Given the description of an element on the screen output the (x, y) to click on. 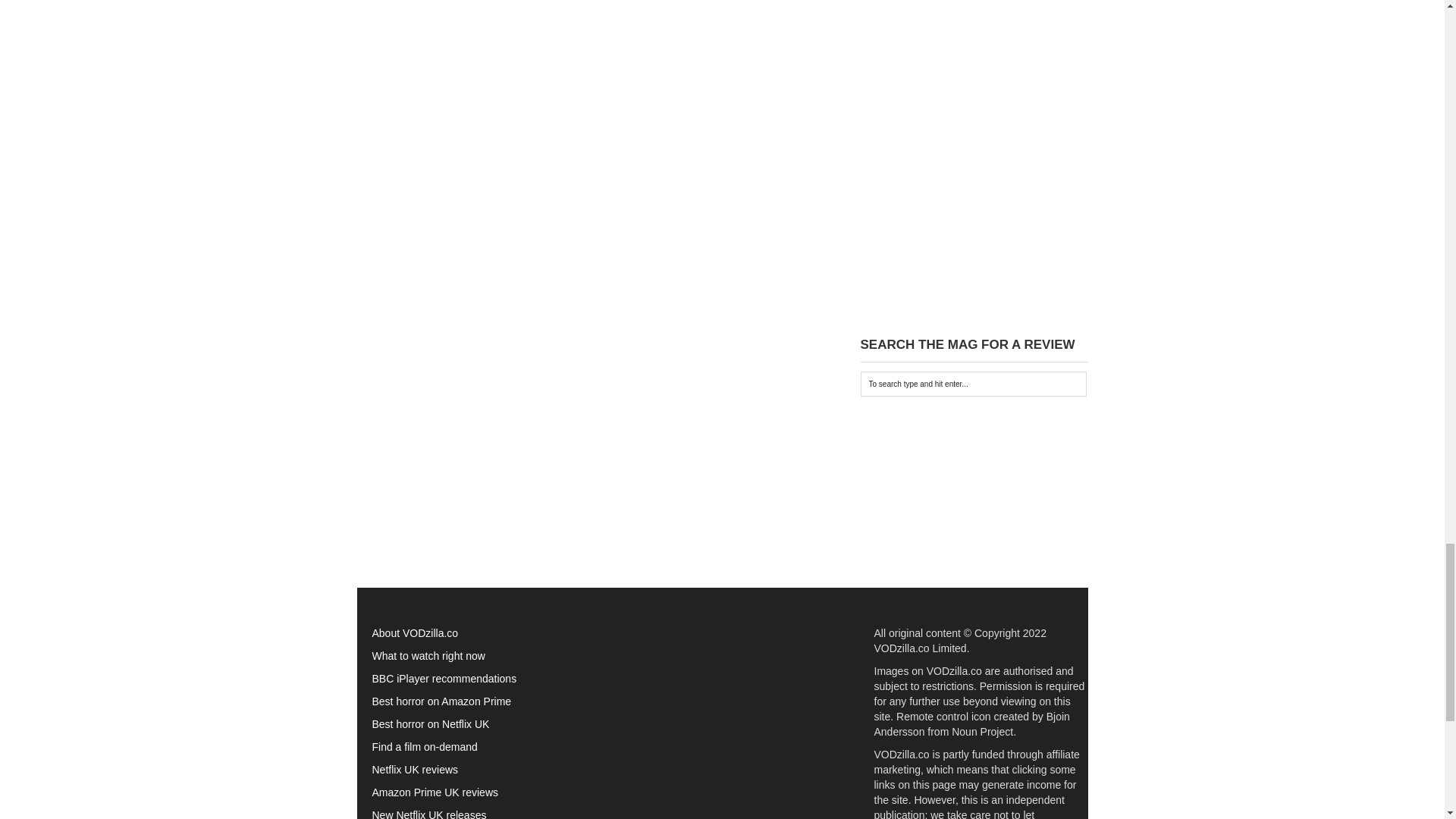
To search type and hit enter... (973, 383)
